Given the description of an element on the screen output the (x, y) to click on. 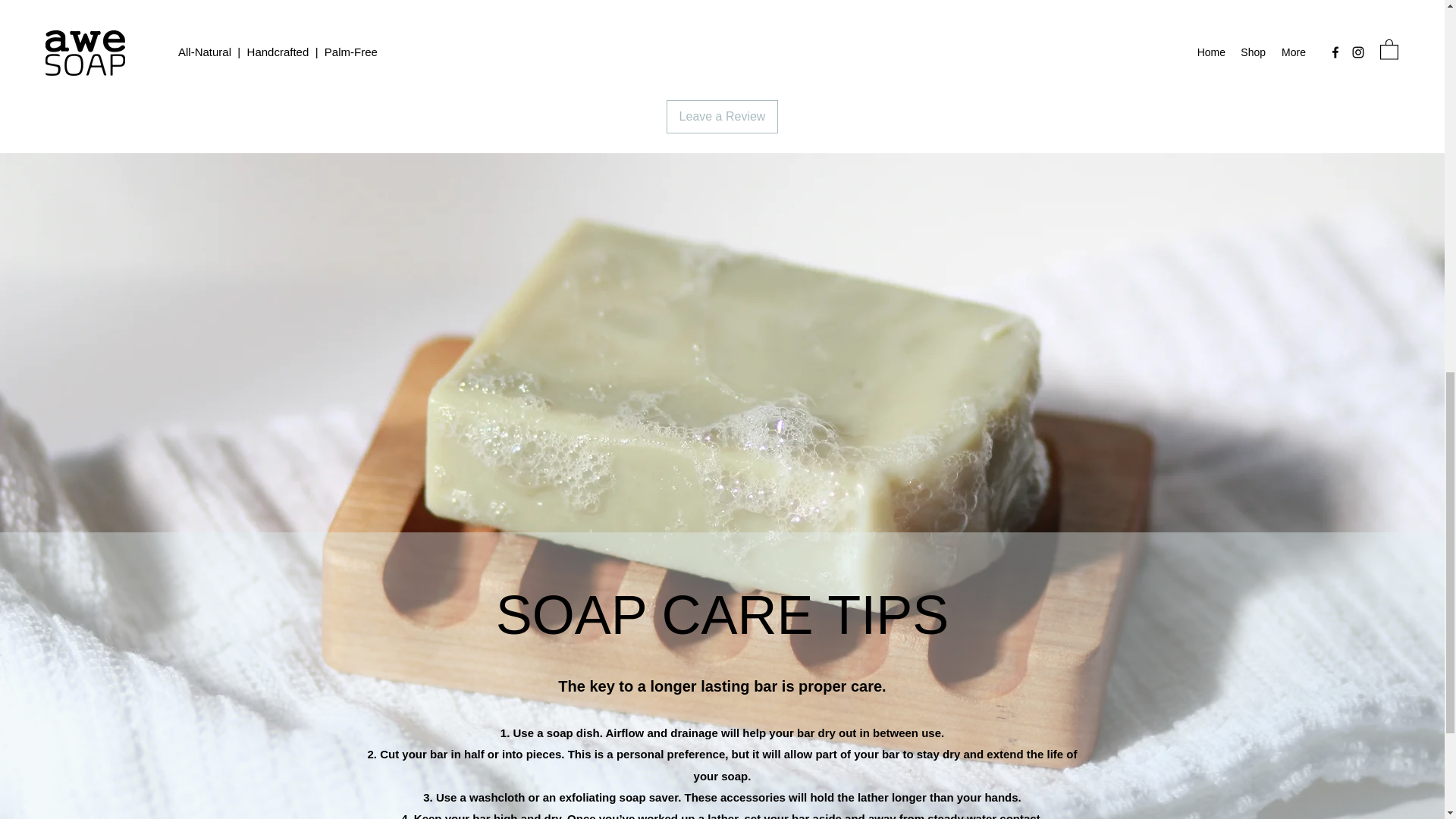
Leave a Review (722, 116)
